Given the description of an element on the screen output the (x, y) to click on. 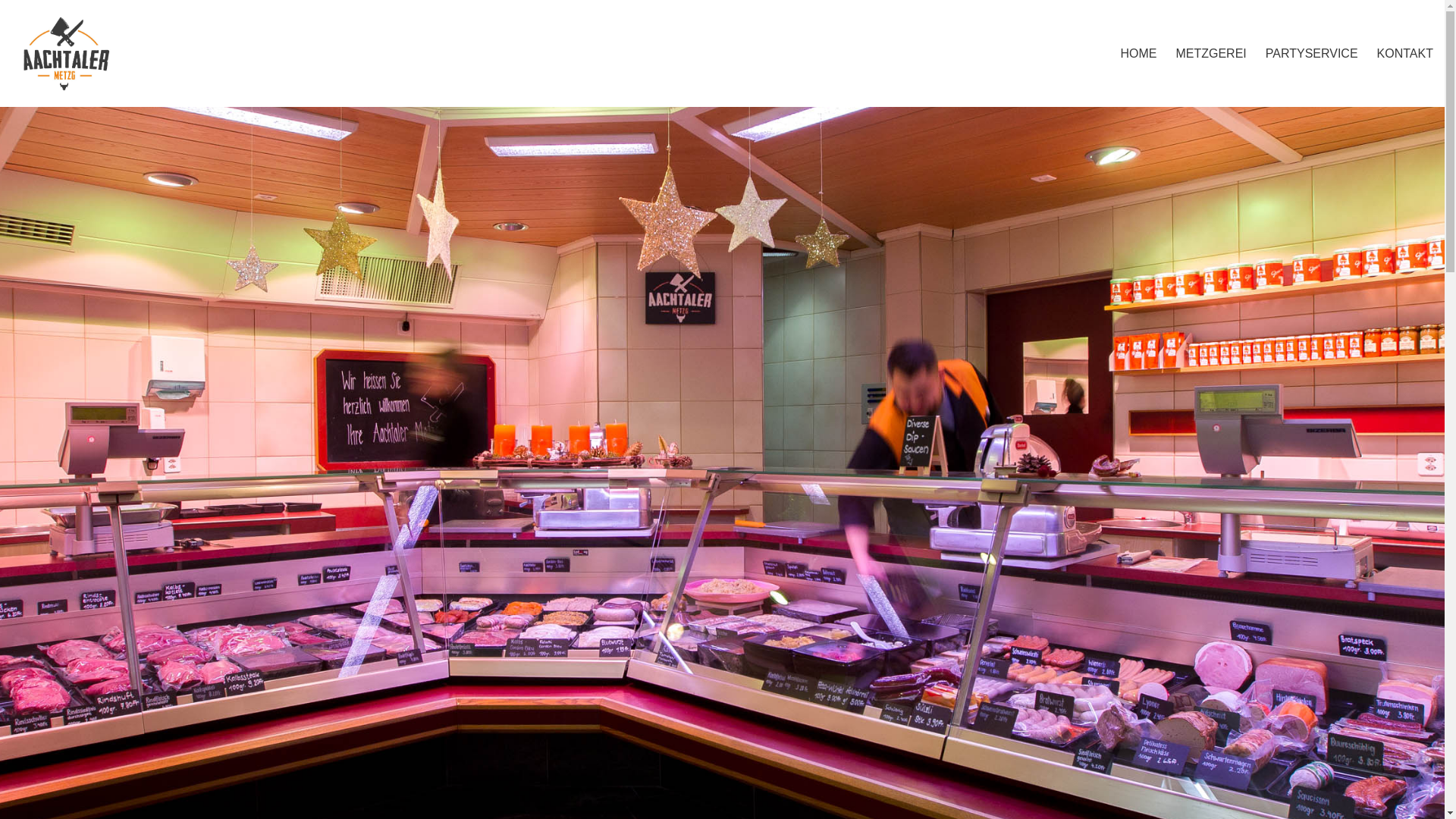
Aachtaler Metzg Element type: hover (64, 53)
PARTYSERVICE Element type: text (1311, 53)
HOME Element type: text (1138, 53)
Zum Inhalt Element type: text (15, 7)
KONTAKT Element type: text (1405, 53)
METZGEREI Element type: text (1210, 53)
